Given the description of an element on the screen output the (x, y) to click on. 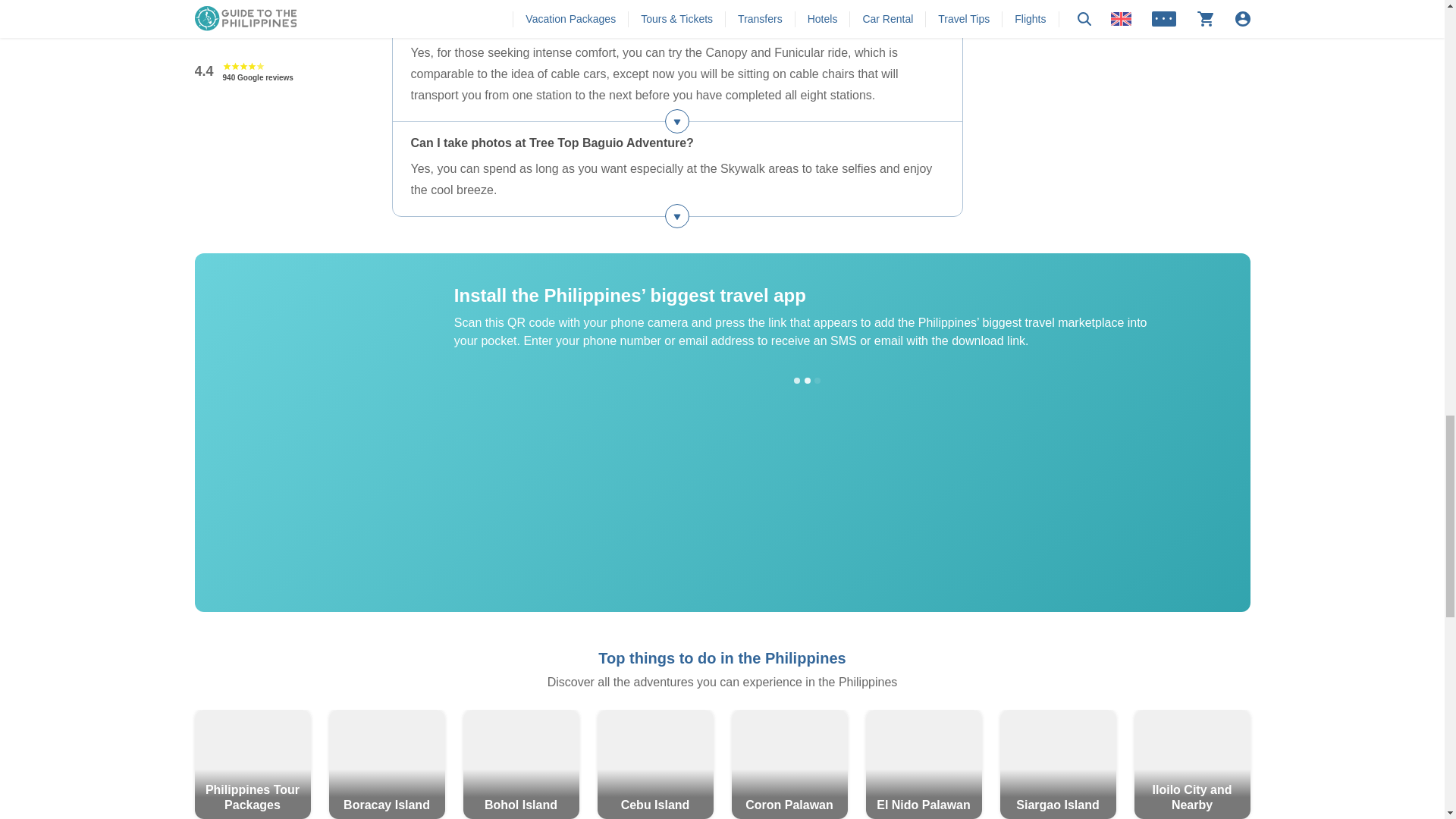
El Nido Palawan (924, 764)
Boracay Island (387, 764)
Cebu Island (655, 764)
Iloilo City and Nearby (1192, 764)
Boracay Island (387, 764)
Siargao Island (1057, 764)
Cebu Island (655, 764)
Siargao Island (1057, 764)
Coron Palawan (789, 764)
Bohol Island (520, 764)
